Given the description of an element on the screen output the (x, y) to click on. 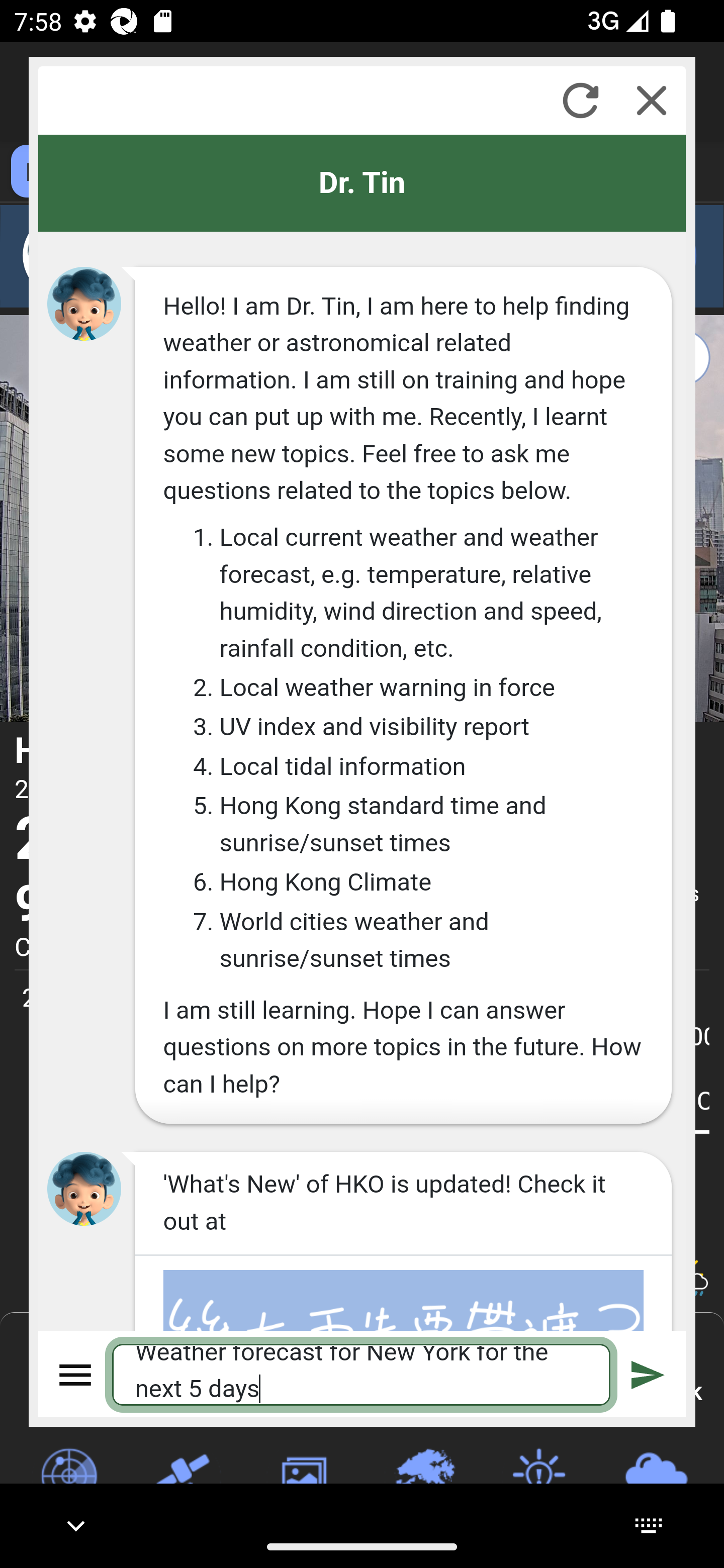
Refresh (580, 100)
Close (651, 100)
Menu (75, 1374)
Submit (648, 1374)
Weather forecast for New York for the next 5 days (361, 1374)
